Given the description of an element on the screen output the (x, y) to click on. 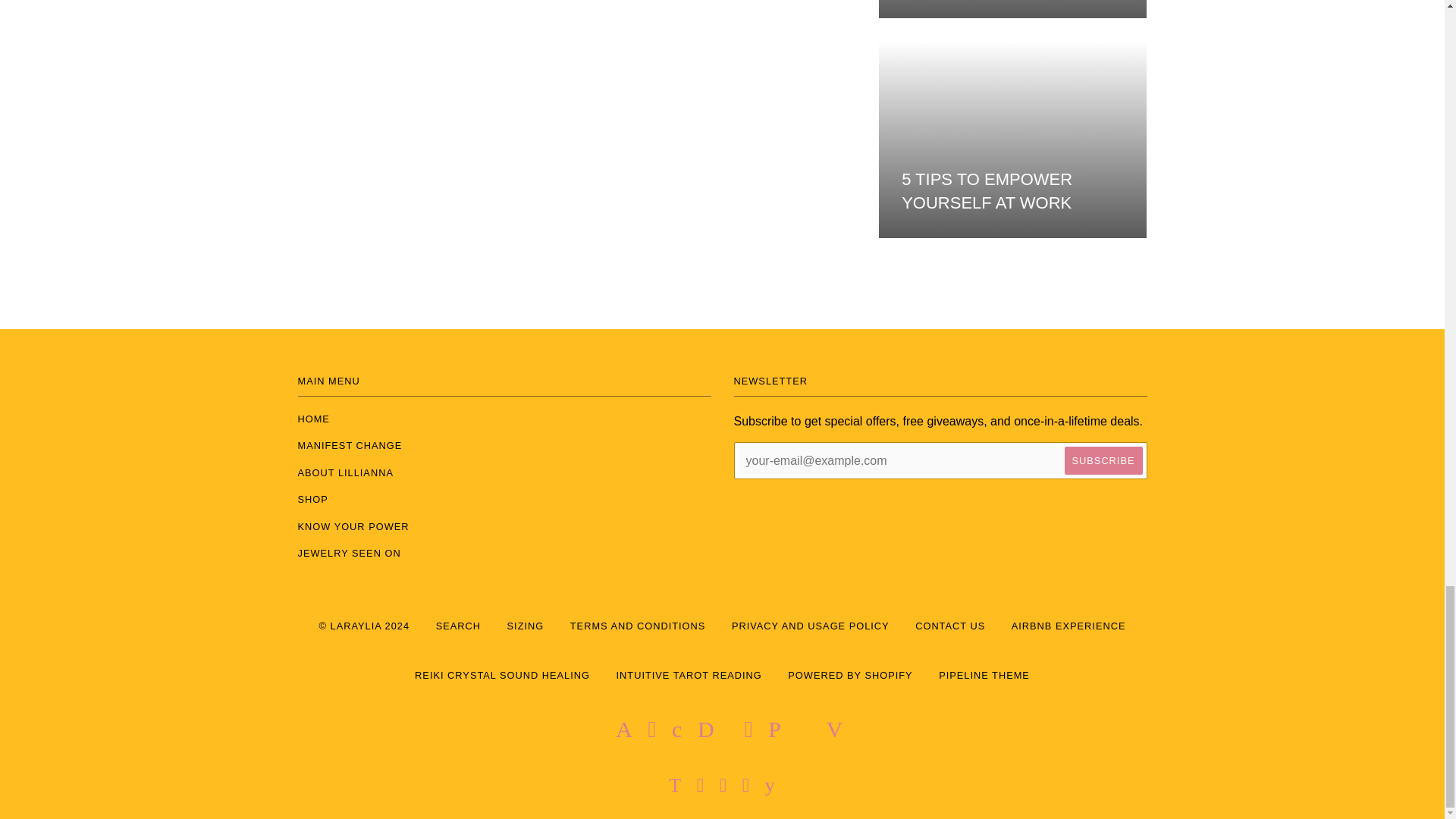
Laraylia on Pinterest (746, 787)
Laraylia on Facebook (700, 787)
Laraylia on Instagram (723, 787)
Laraylia on Youtube (770, 787)
Laraylia on Twitter (674, 787)
Subscribe (1103, 460)
